Given the description of an element on the screen output the (x, y) to click on. 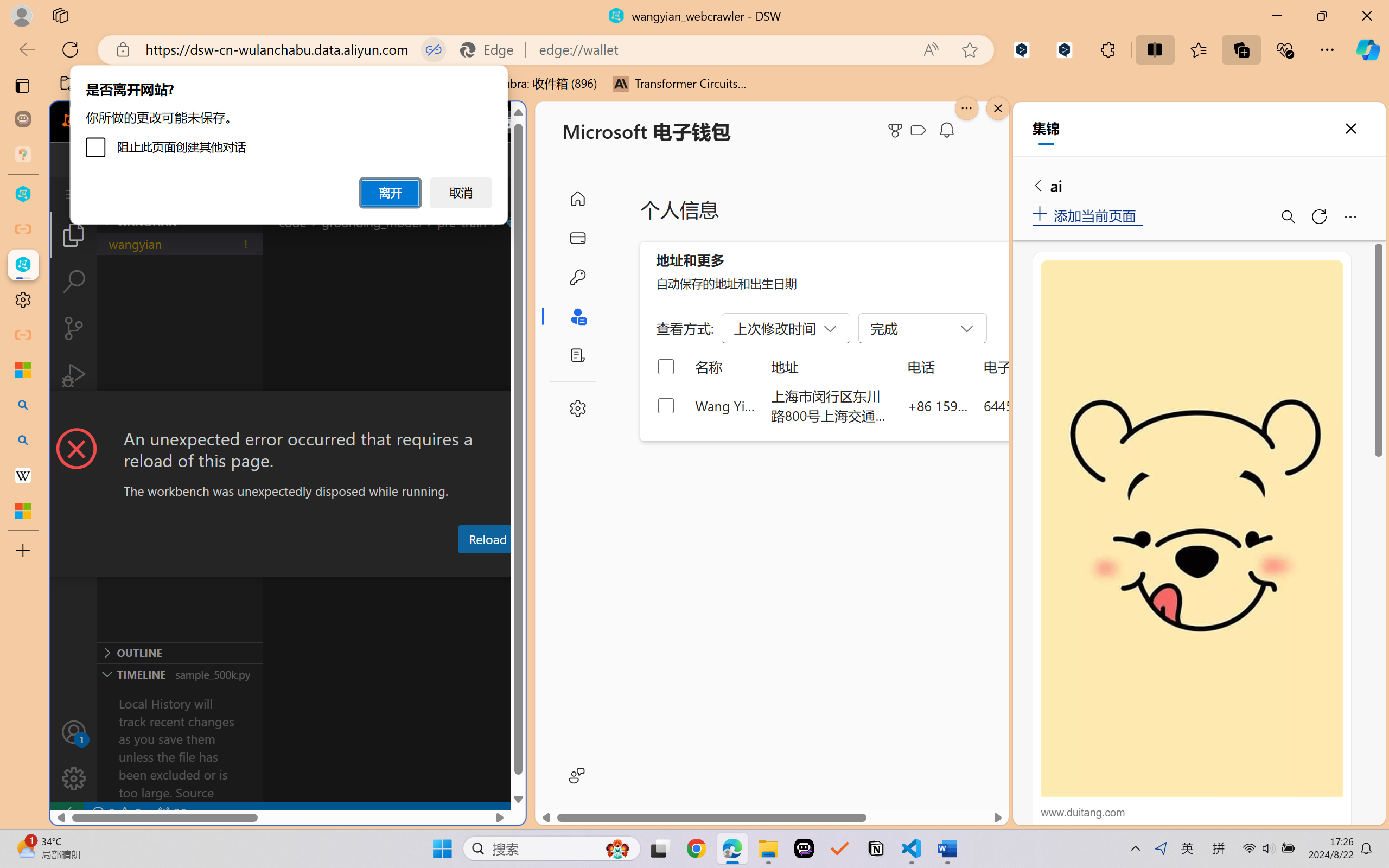
Outline Section (179, 652)
Terminal (Ctrl+`) (553, 565)
644553698@qq.com (1043, 405)
